Given the description of an element on the screen output the (x, y) to click on. 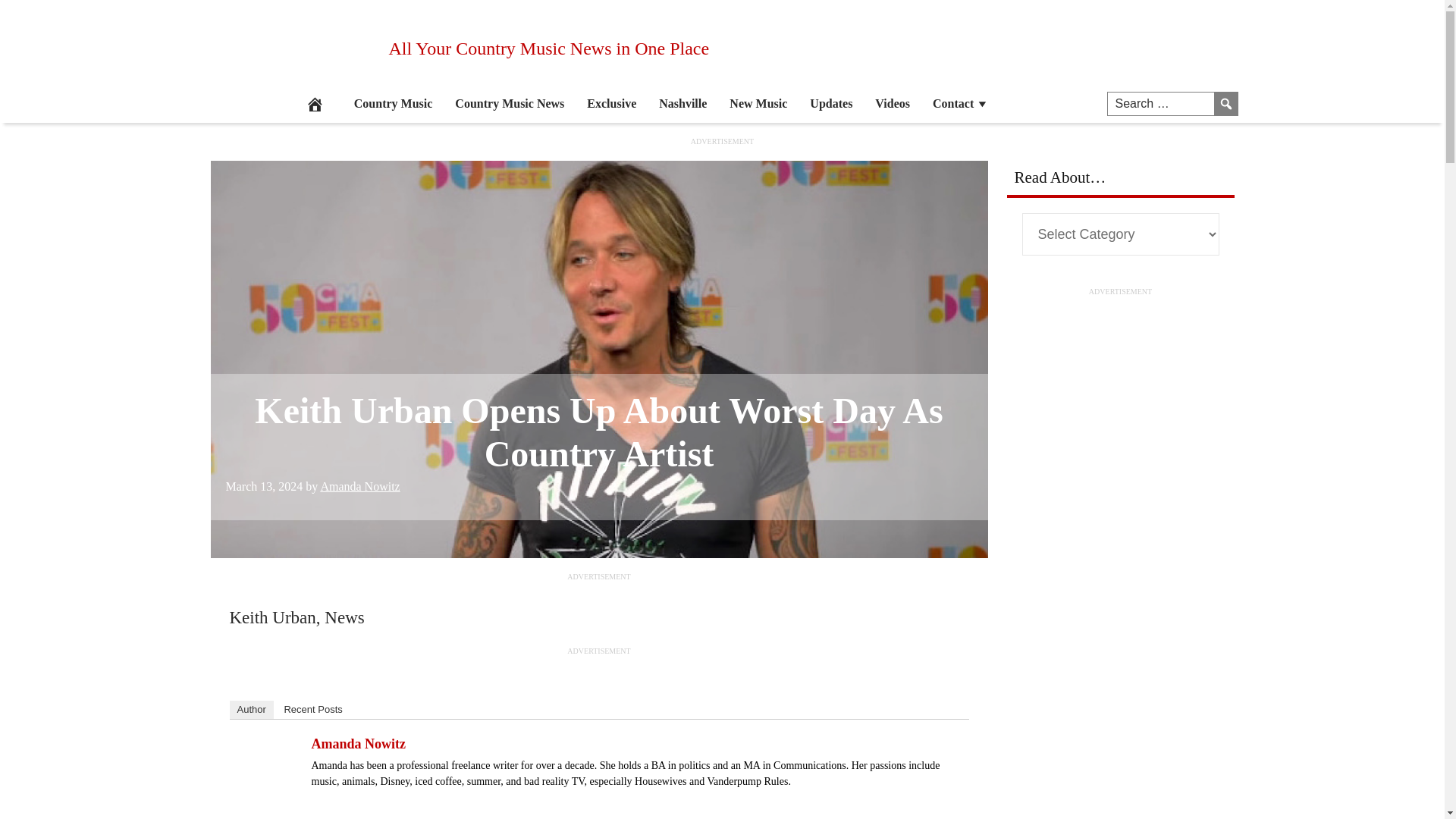
News (344, 617)
Country Music (393, 103)
Amanda Nowitz (268, 798)
Keith Urban (271, 617)
Contact (960, 103)
Updates (830, 103)
Exclusive (611, 103)
Country Music News (509, 103)
New Music (757, 103)
Videos (892, 103)
